Given the description of an element on the screen output the (x, y) to click on. 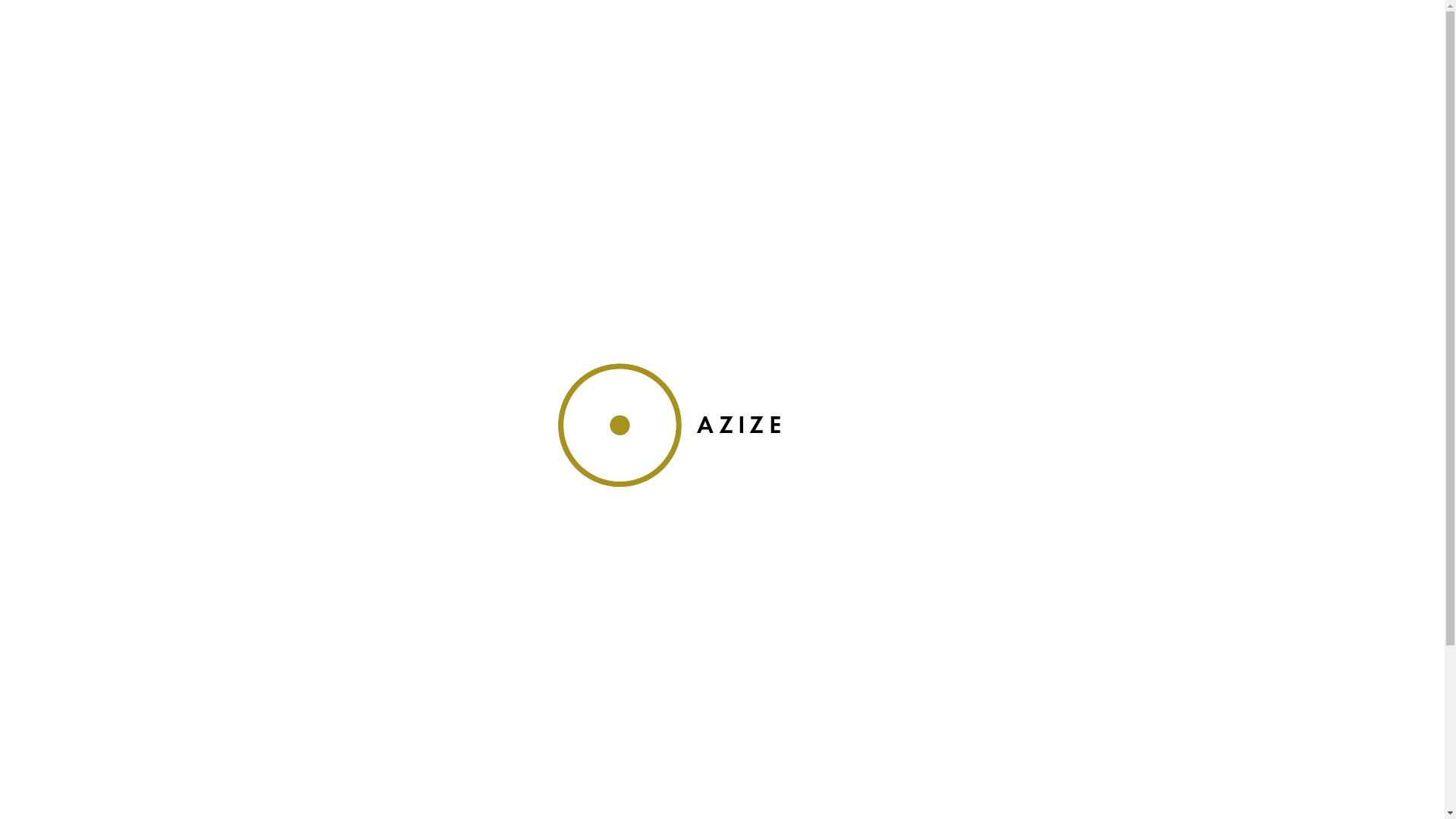
AZIZE_NEU_2 Element type: hover (722, 424)
